Given the description of an element on the screen output the (x, y) to click on. 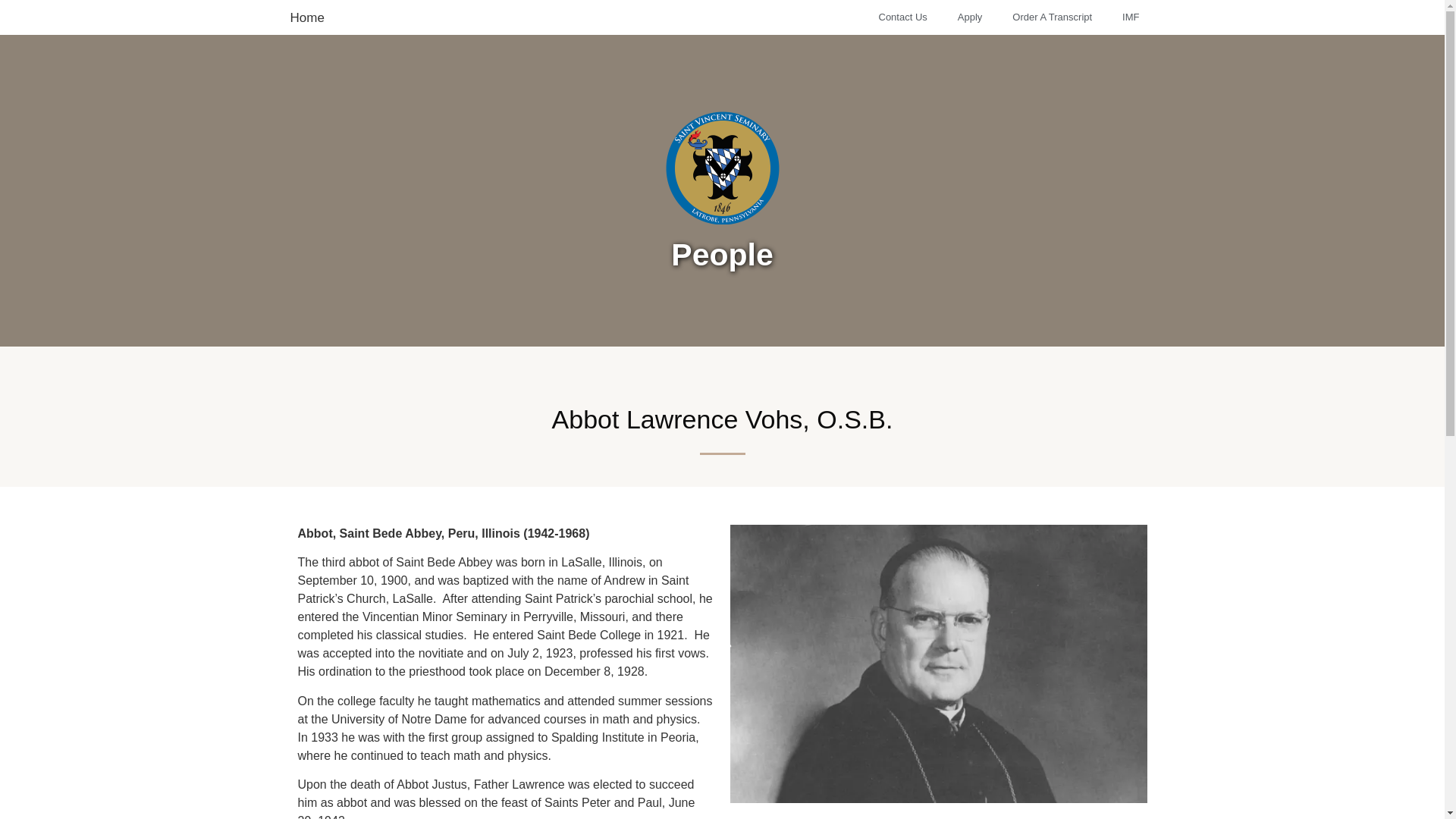
IMF (1130, 17)
Contact Us (902, 17)
Apply (969, 17)
Order A Transcript (1051, 17)
Home (306, 17)
